Given the description of an element on the screen output the (x, y) to click on. 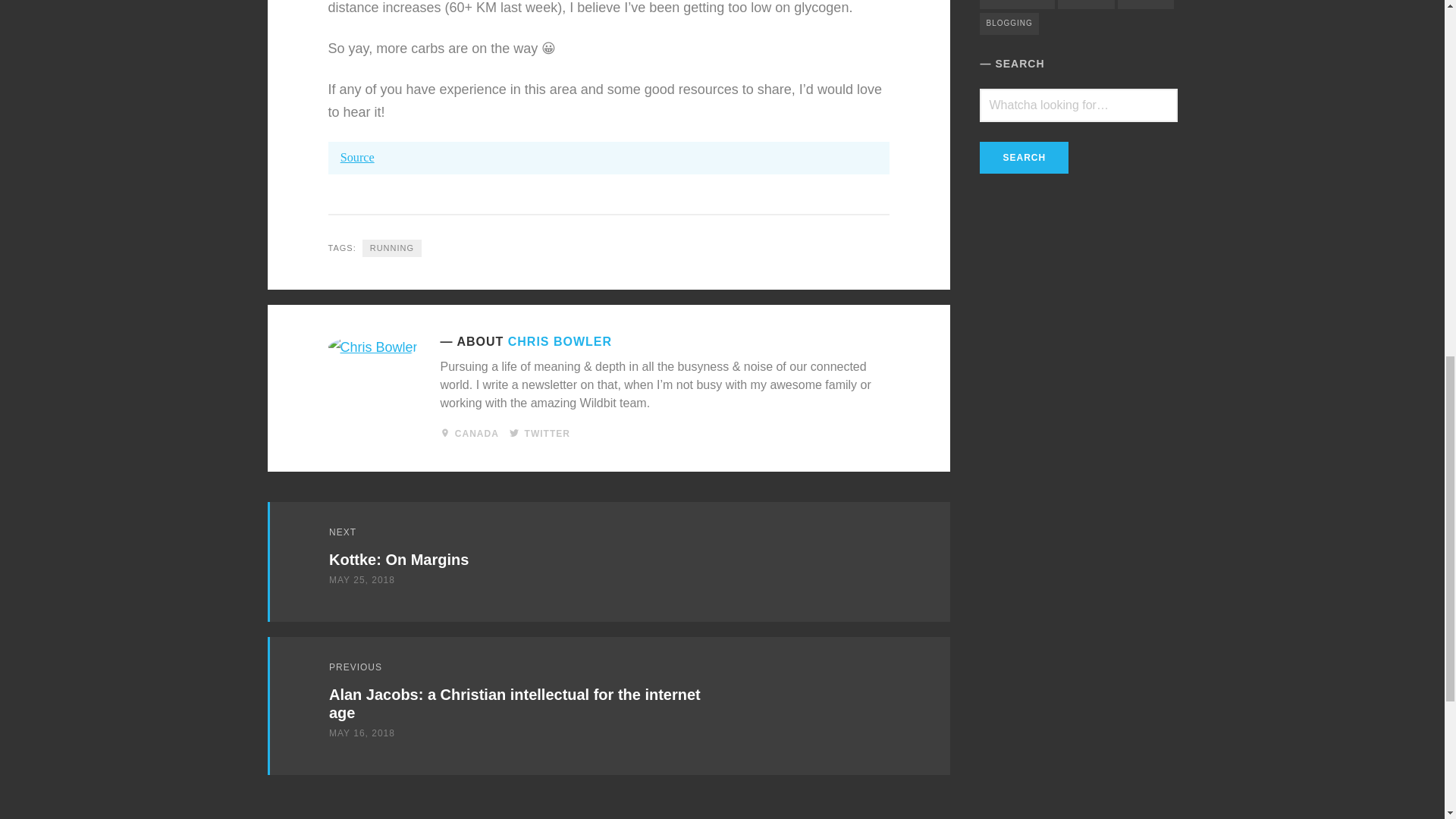
Alan Jacobs: a Christian intellectual for the internet age (514, 703)
Kottke: On Margins (398, 559)
CHRIS BOWLER (559, 340)
RUNNING (392, 247)
TWITTER (547, 433)
Source (357, 156)
